Given the description of an element on the screen output the (x, y) to click on. 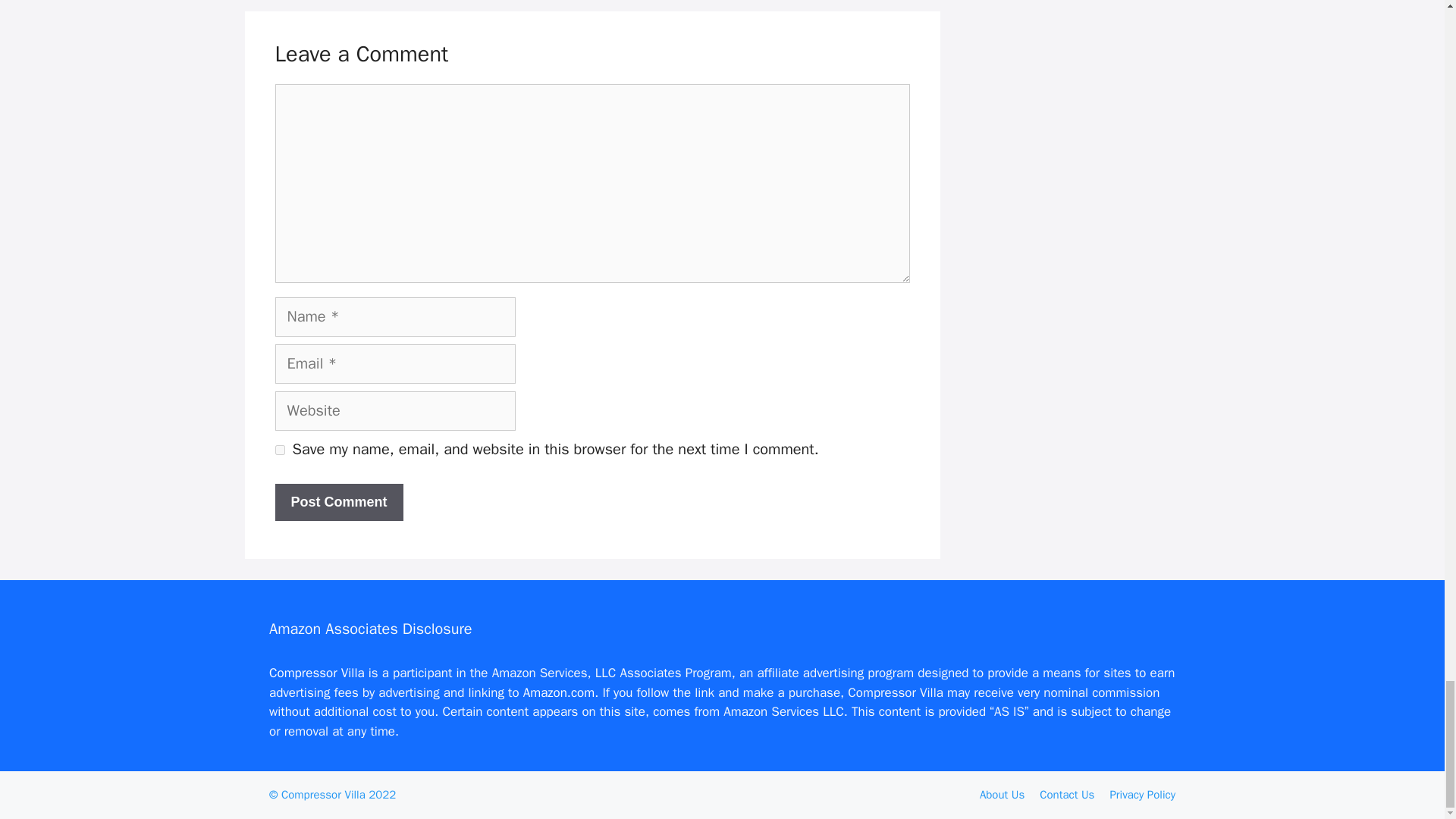
Post Comment (339, 502)
Post Comment (339, 502)
yes (279, 450)
